Given the description of an element on the screen output the (x, y) to click on. 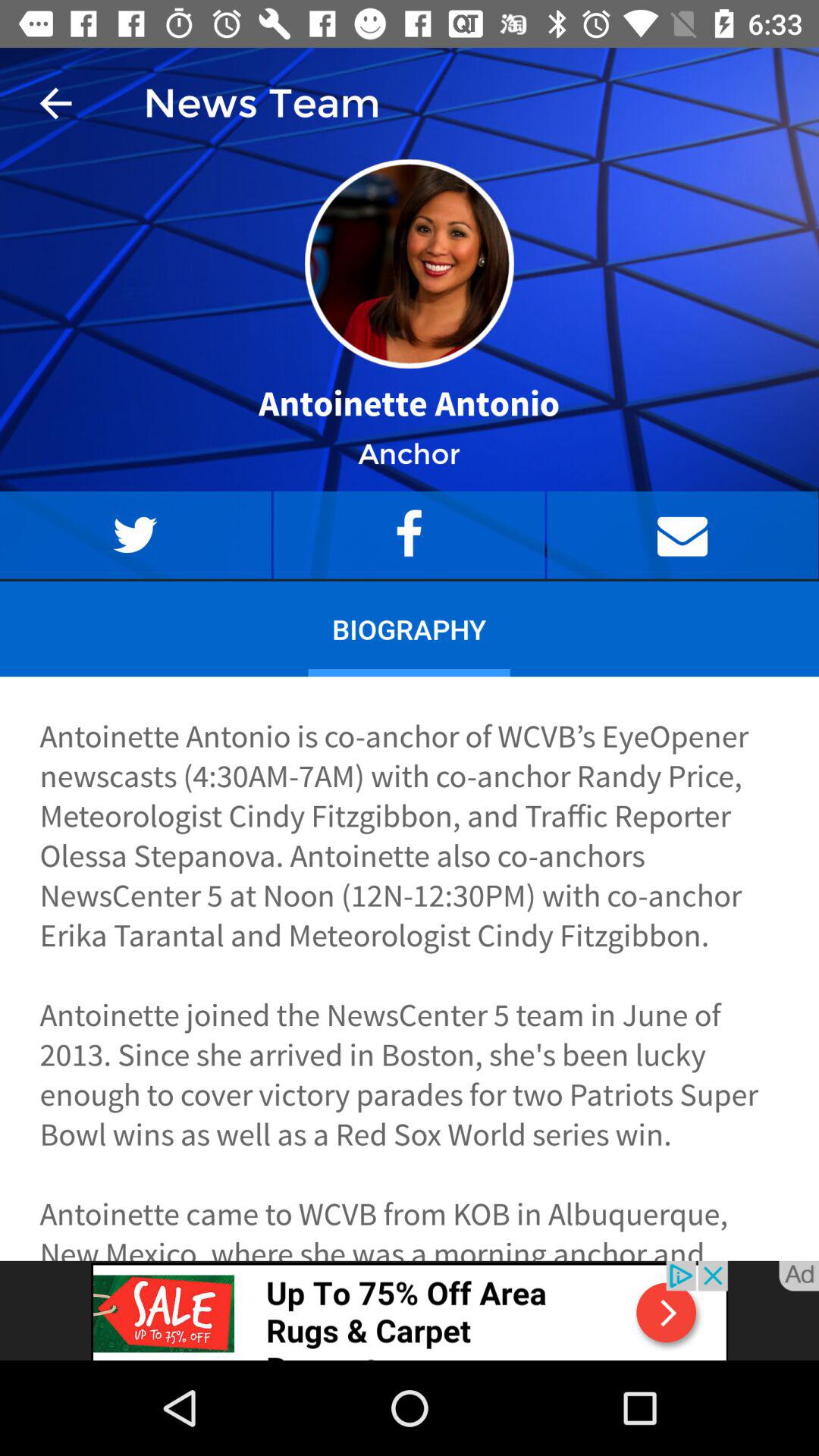
advertising (409, 1310)
